Given the description of an element on the screen output the (x, y) to click on. 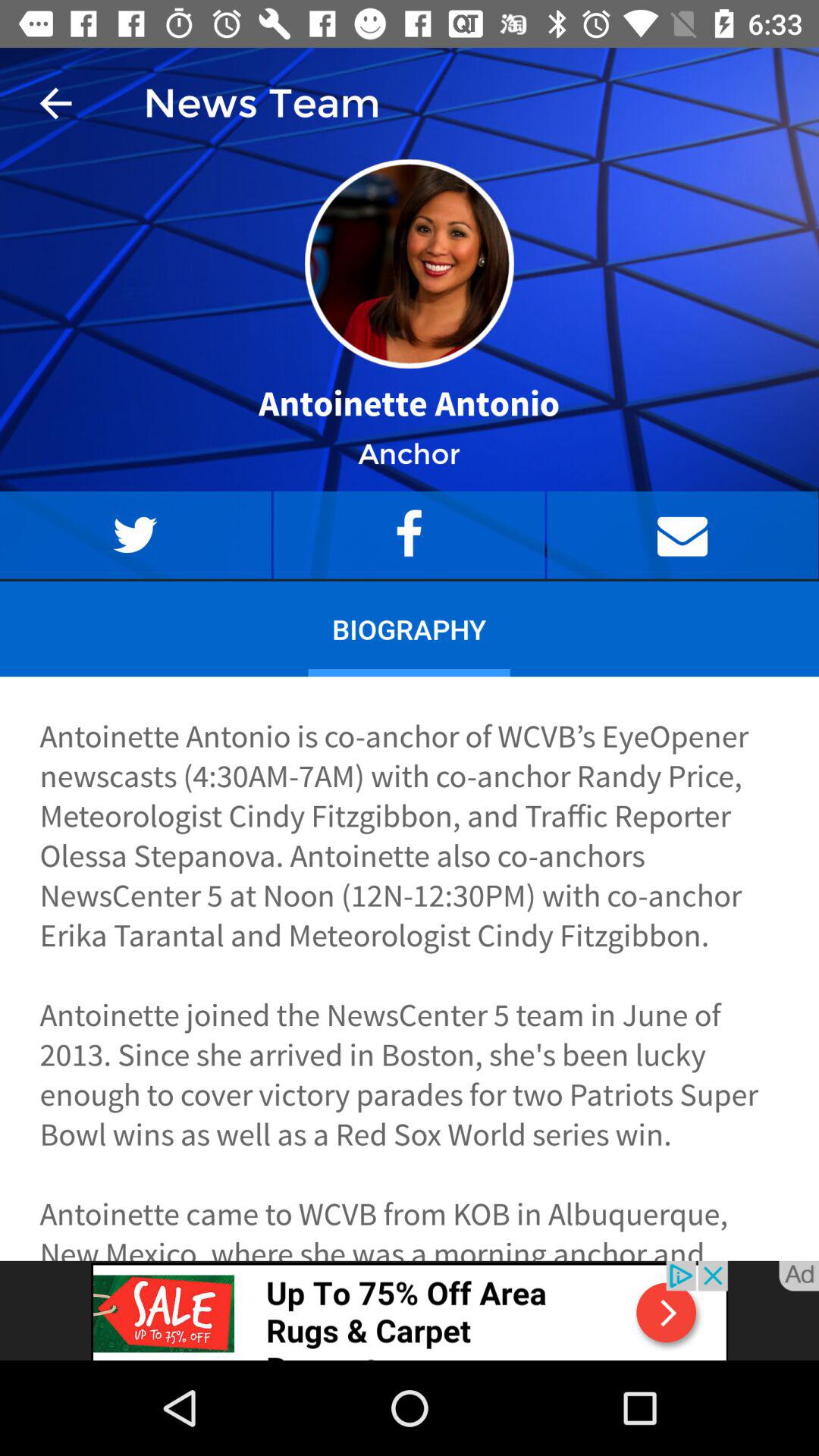
advertising (409, 1310)
